Given the description of an element on the screen output the (x, y) to click on. 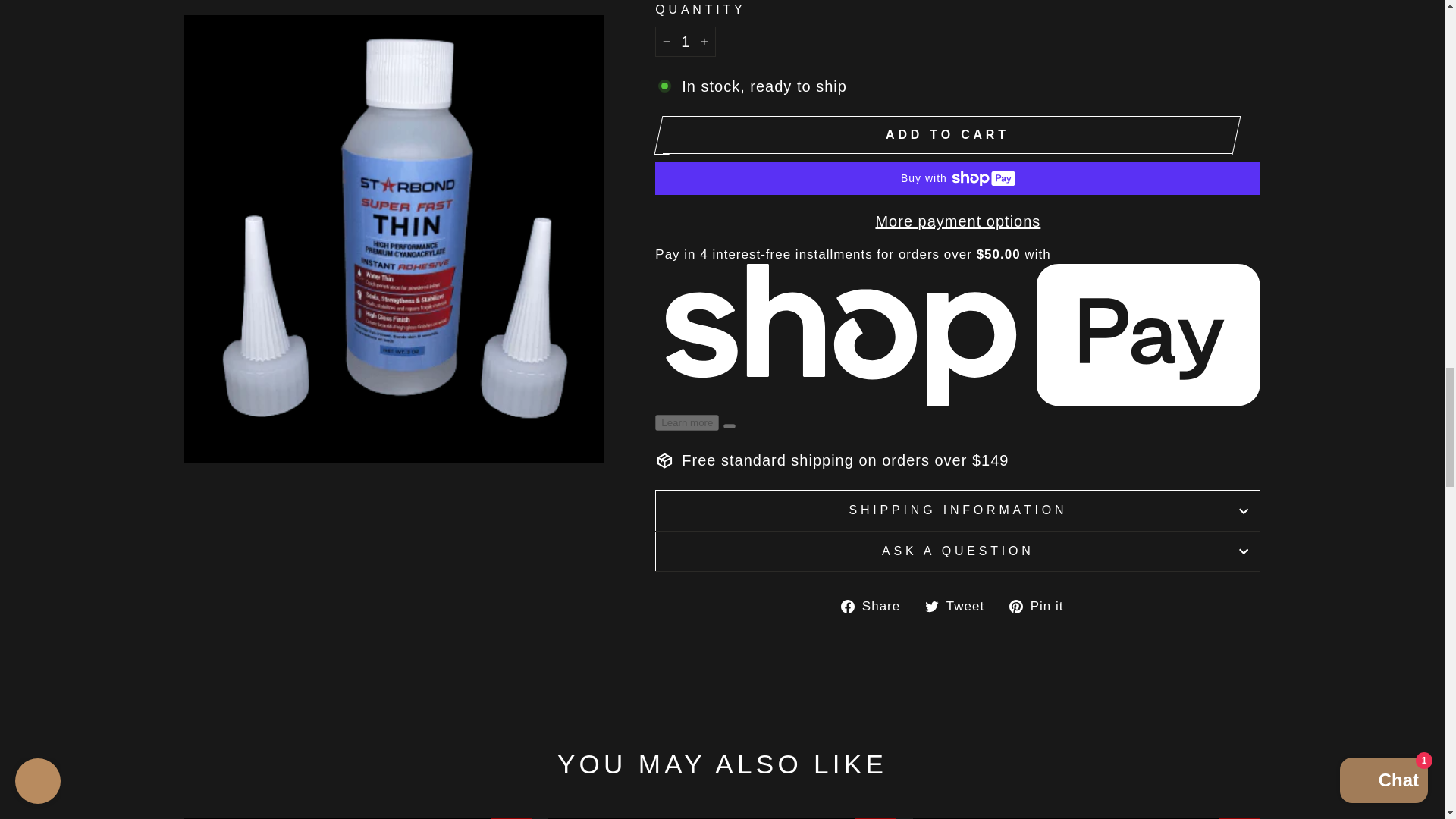
Pin on Pinterest (1041, 604)
Tweet on Twitter (959, 604)
1 (685, 41)
Share on Facebook (876, 604)
